Given the description of an element on the screen output the (x, y) to click on. 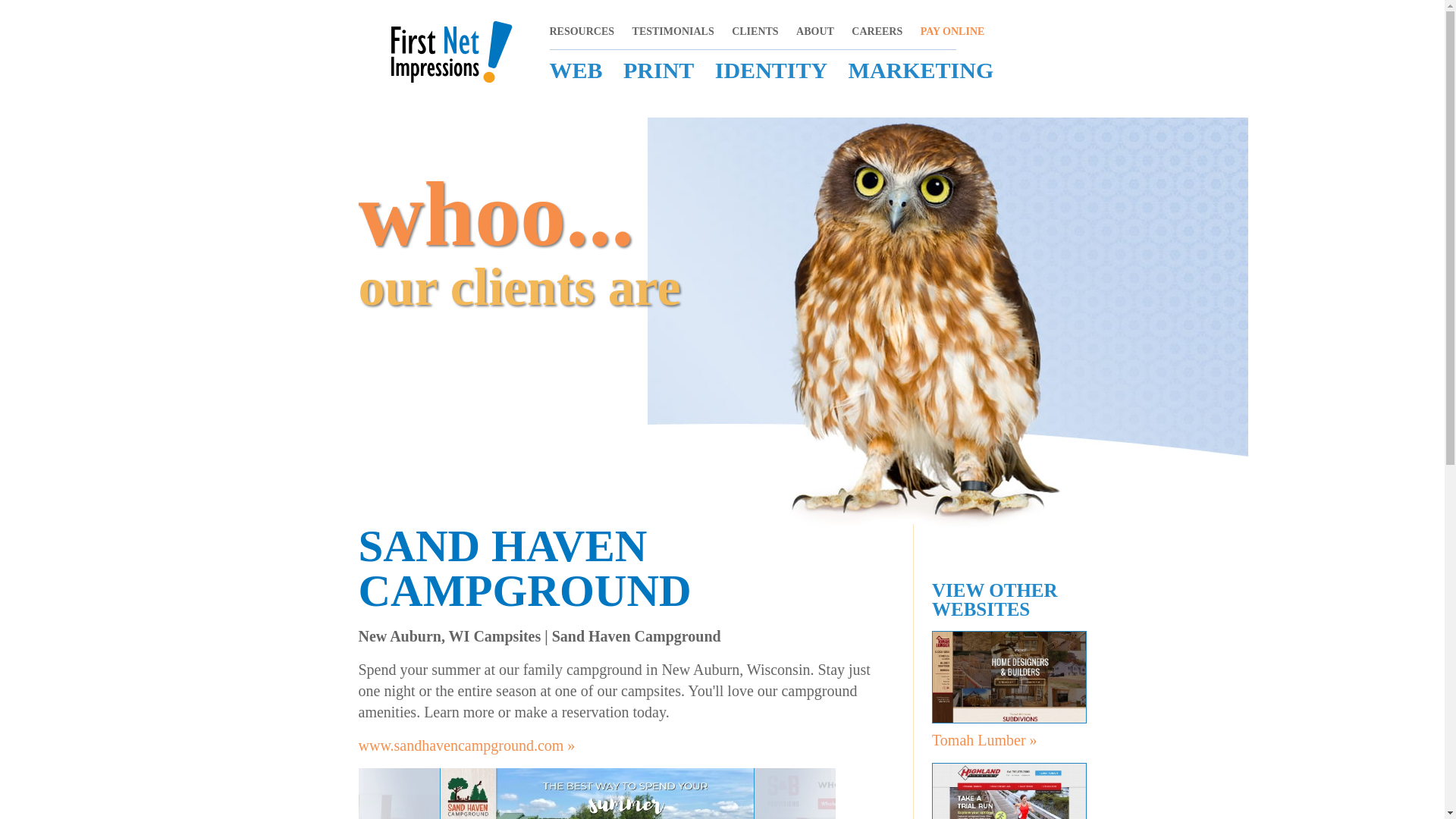
IDENTITY (770, 69)
PAY ONLINE (952, 30)
TESTIMONIALS (672, 30)
CAREERS (876, 30)
St. Francis Apartments (398, 793)
PRINT (658, 69)
CLIENTS (754, 30)
SB Provisions (794, 793)
View more about Highland Fitness (1008, 790)
MARKETING (921, 69)
WEB (575, 69)
ABOUT (815, 30)
RESOURCES (1032, 52)
View more about Tomah Lumber (581, 30)
